Given the description of an element on the screen output the (x, y) to click on. 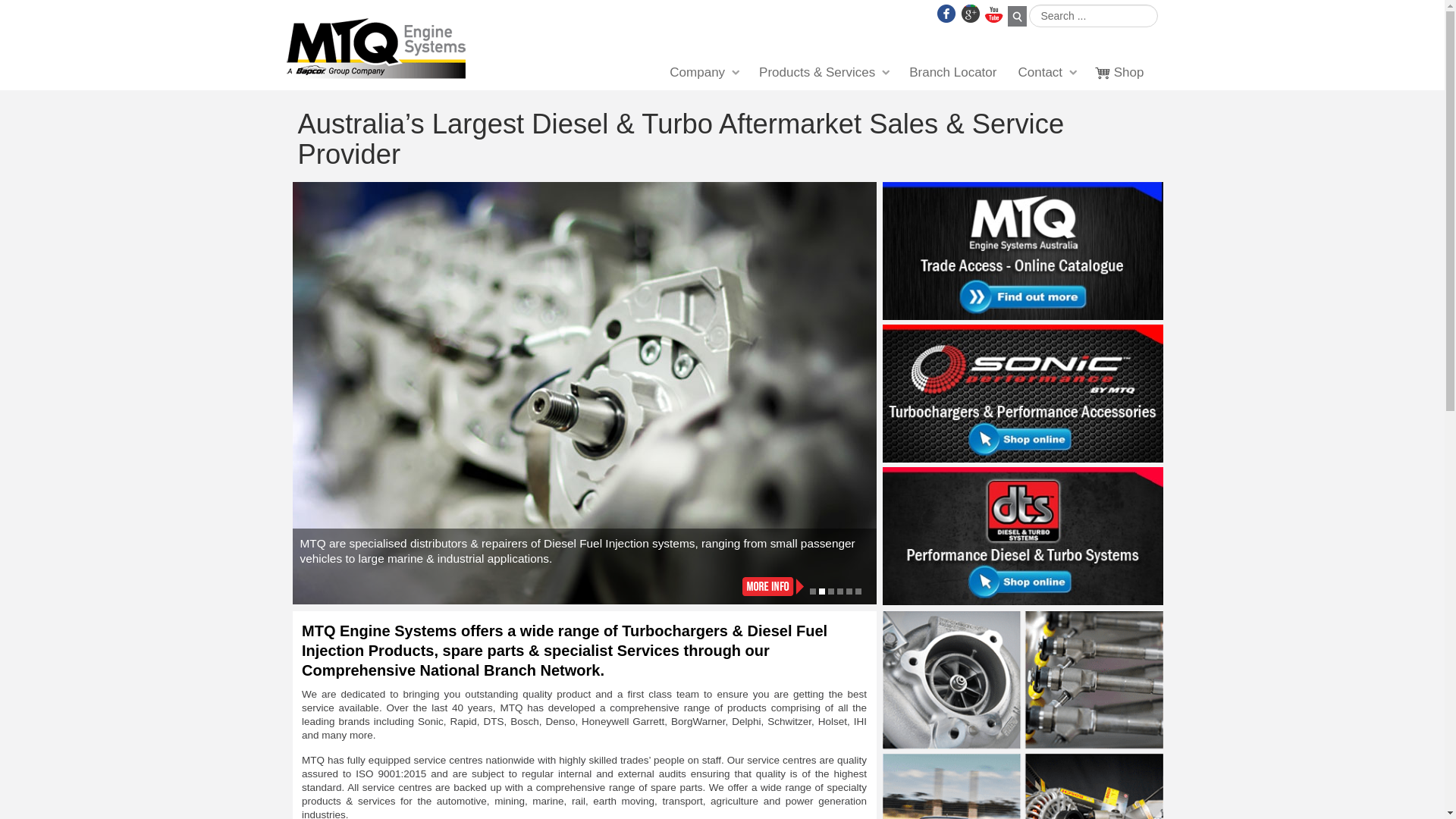
MTQ Online Catalogue Element type: hover (1022, 250)
Company Element type: text (703, 72)
Sonic Performance Element type: hover (1022, 395)
Contact Element type: text (1046, 72)
Branch Locator Element type: text (952, 72)
Products & Services Element type: text (823, 72)
Search Element type: text (1016, 16)
Shop Element type: text (1119, 72)
DTS Performance Element type: hover (1022, 535)
